Given the description of an element on the screen output the (x, y) to click on. 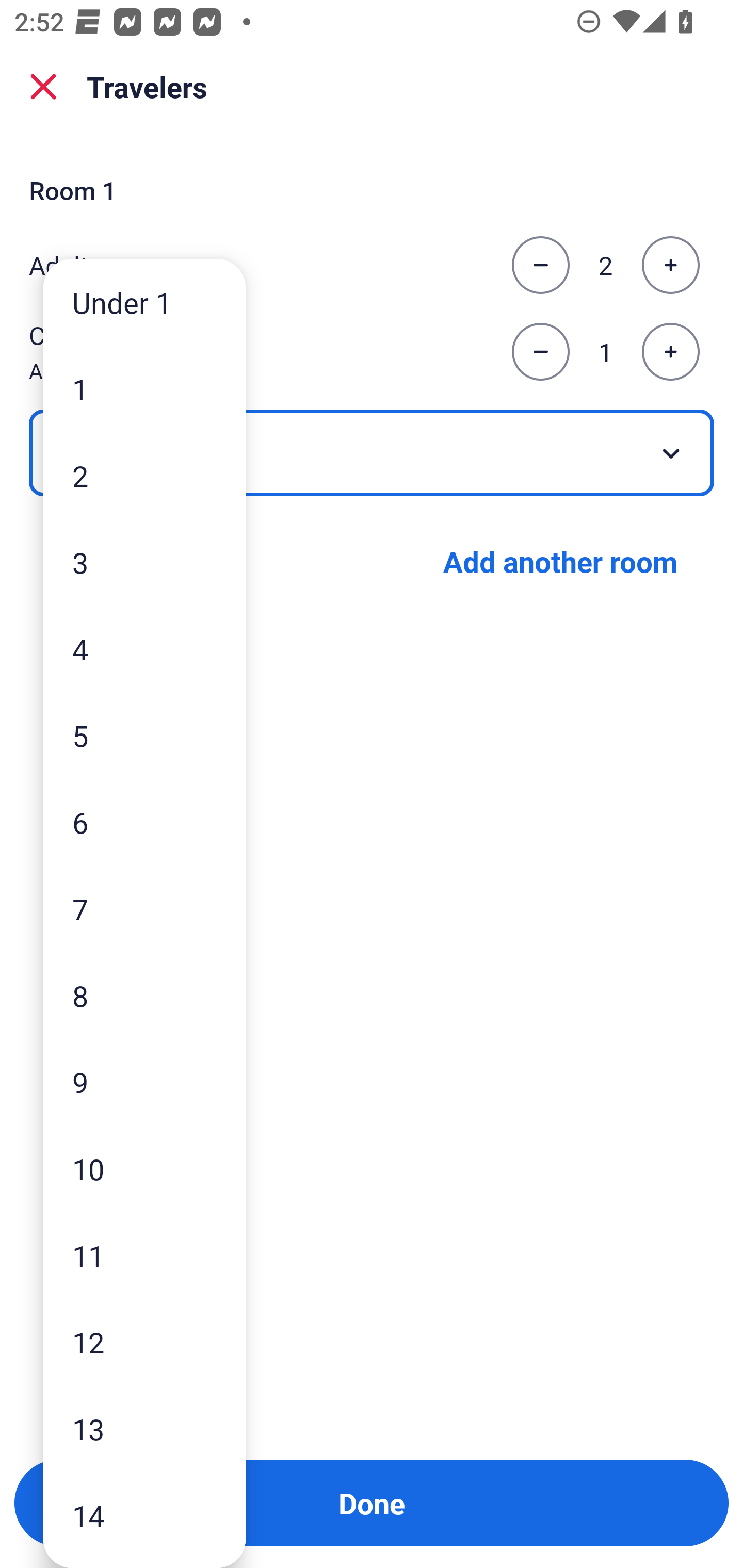
Under 1 (144, 301)
1 (144, 388)
2 (144, 475)
3 (144, 562)
4 (144, 648)
5 (144, 735)
6 (144, 822)
7 (144, 908)
8 (144, 994)
9 (144, 1081)
10 (144, 1168)
11 (144, 1255)
12 (144, 1342)
13 (144, 1429)
14 (144, 1515)
